Given the description of an element on the screen output the (x, y) to click on. 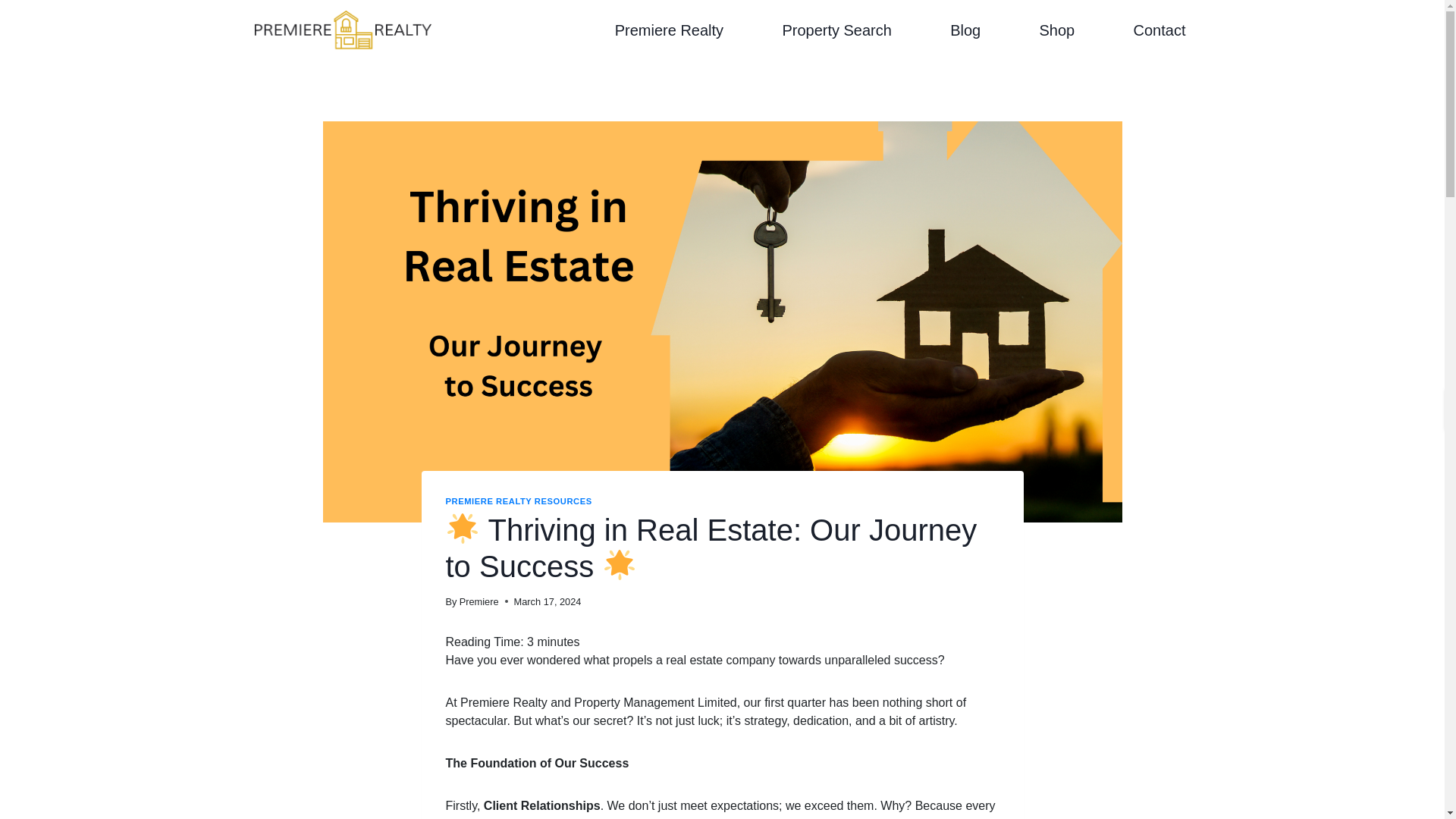
Contact (1159, 29)
Premiere Realty (668, 29)
Property Search (836, 29)
PREMIERE REALTY RESOURCES (518, 501)
Blog (965, 29)
Premiere (479, 601)
Shop (1057, 29)
